Given the description of an element on the screen output the (x, y) to click on. 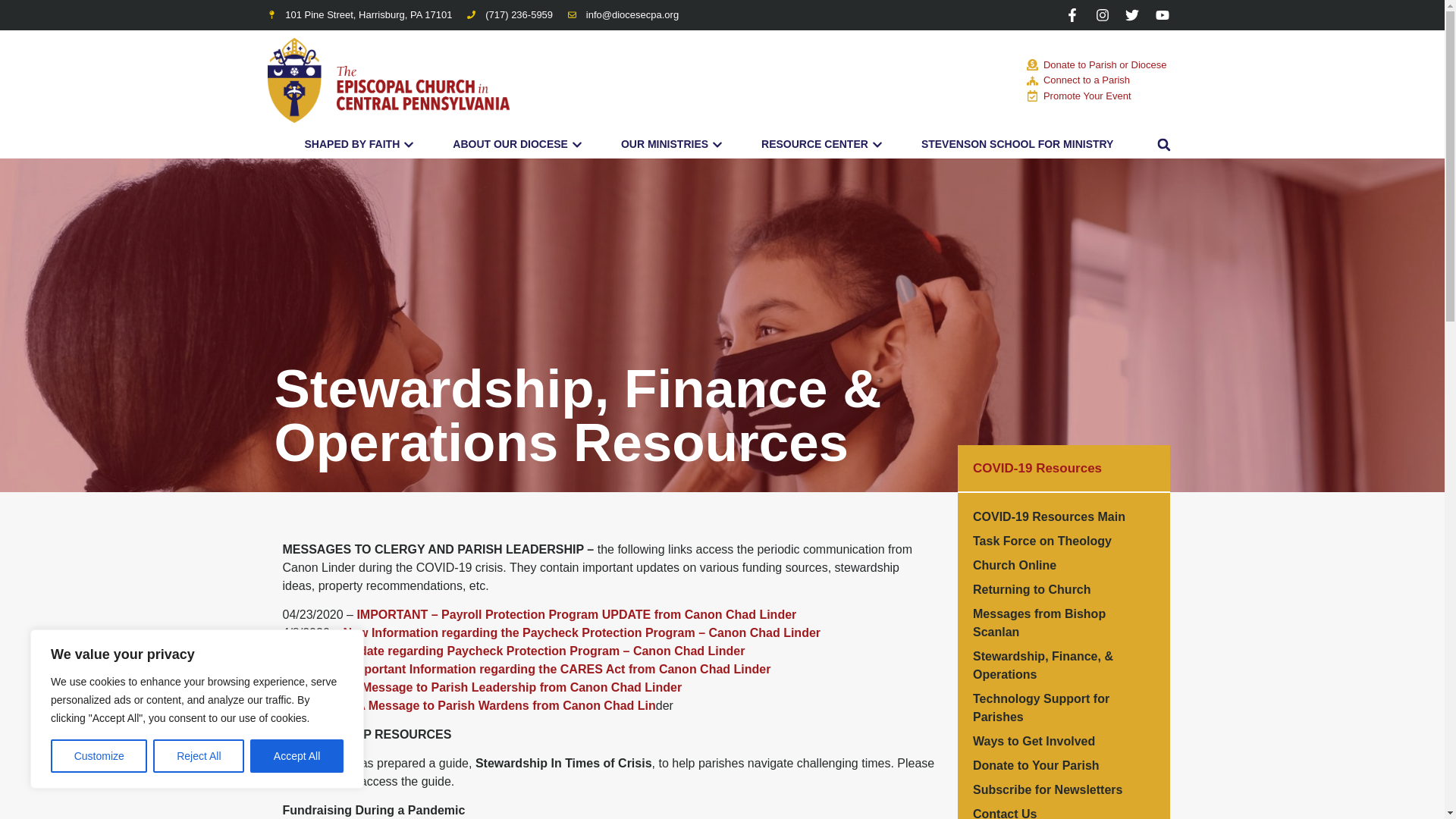
Accept All (296, 756)
Donate to Parish or Diocese (1099, 64)
ABOUT OUR DIOCESE (509, 144)
Reject All (198, 756)
Connect to a Parish (1099, 79)
Customize (98, 756)
Promote Your Event (1099, 96)
SHAPED BY FAITH (352, 144)
